Given the description of an element on the screen output the (x, y) to click on. 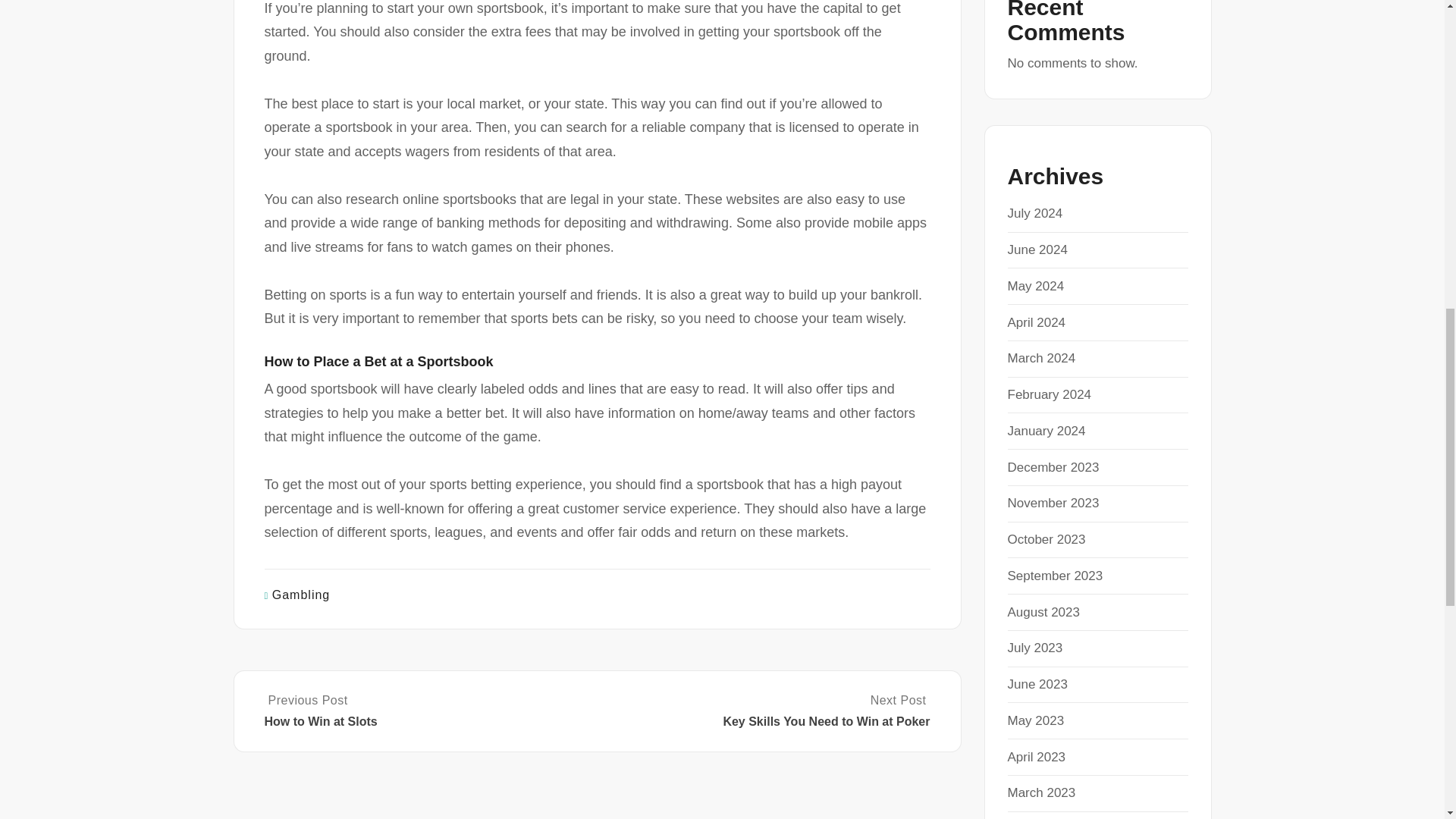
July 2024 (1034, 213)
April 2024 (1036, 322)
March 2024 (1041, 358)
December 2023 (1053, 467)
July 2023 (1034, 647)
March 2023 (1041, 792)
August 2023 (1042, 612)
October 2023 (1045, 539)
February 2024 (1048, 394)
